Given the description of an element on the screen output the (x, y) to click on. 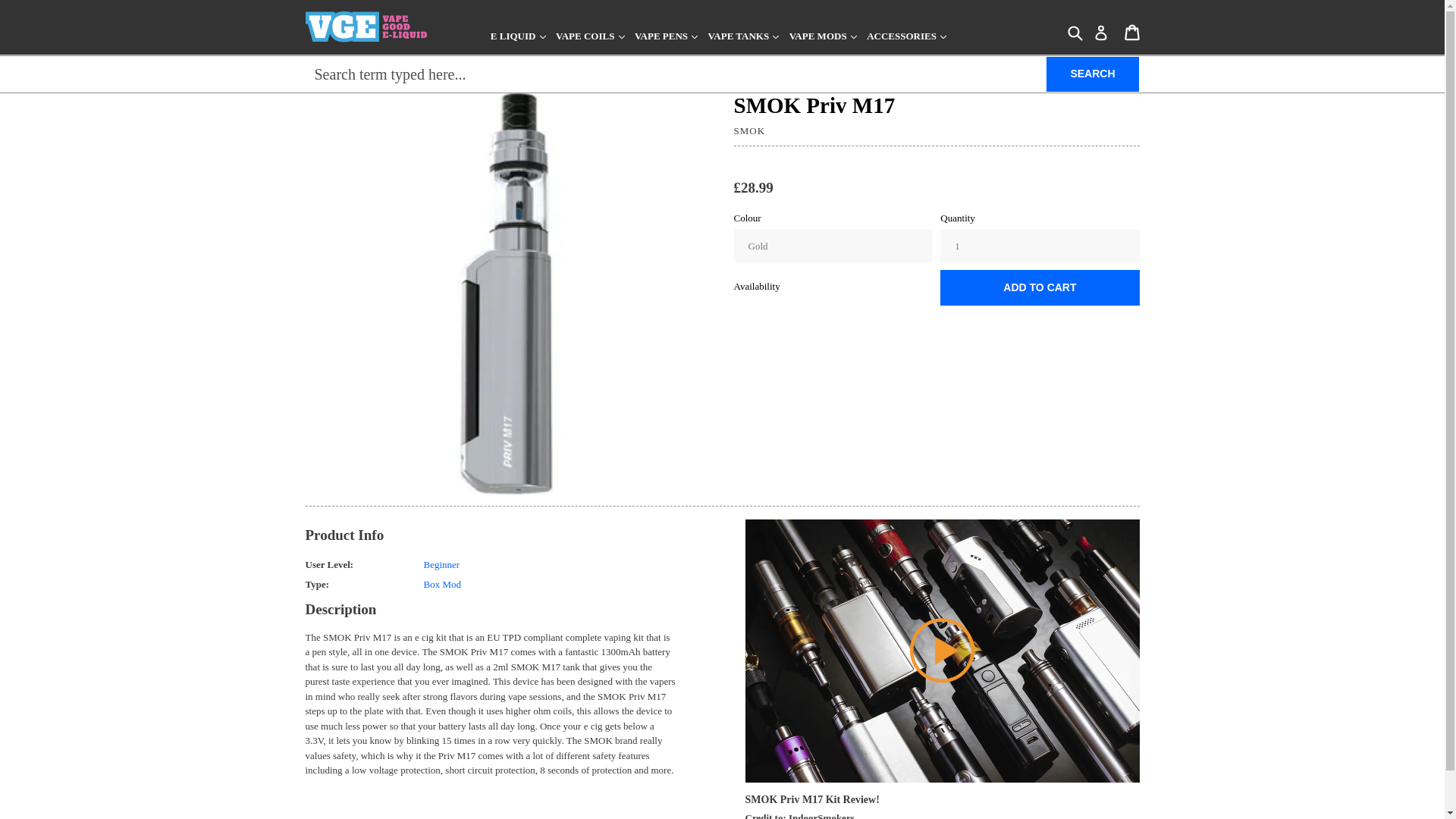
Home (316, 73)
